Given the description of an element on the screen output the (x, y) to click on. 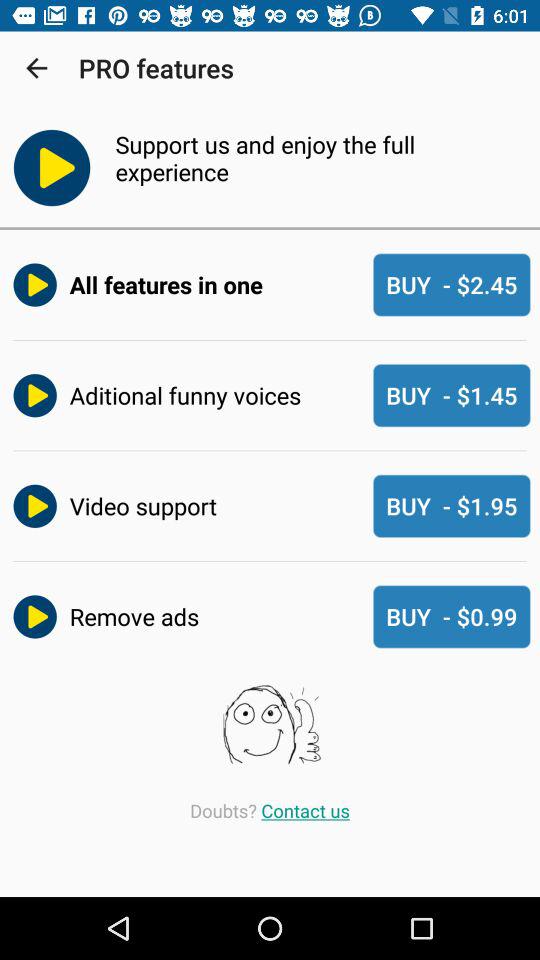
jump to the doubts? contact us (269, 810)
